Given the description of an element on the screen output the (x, y) to click on. 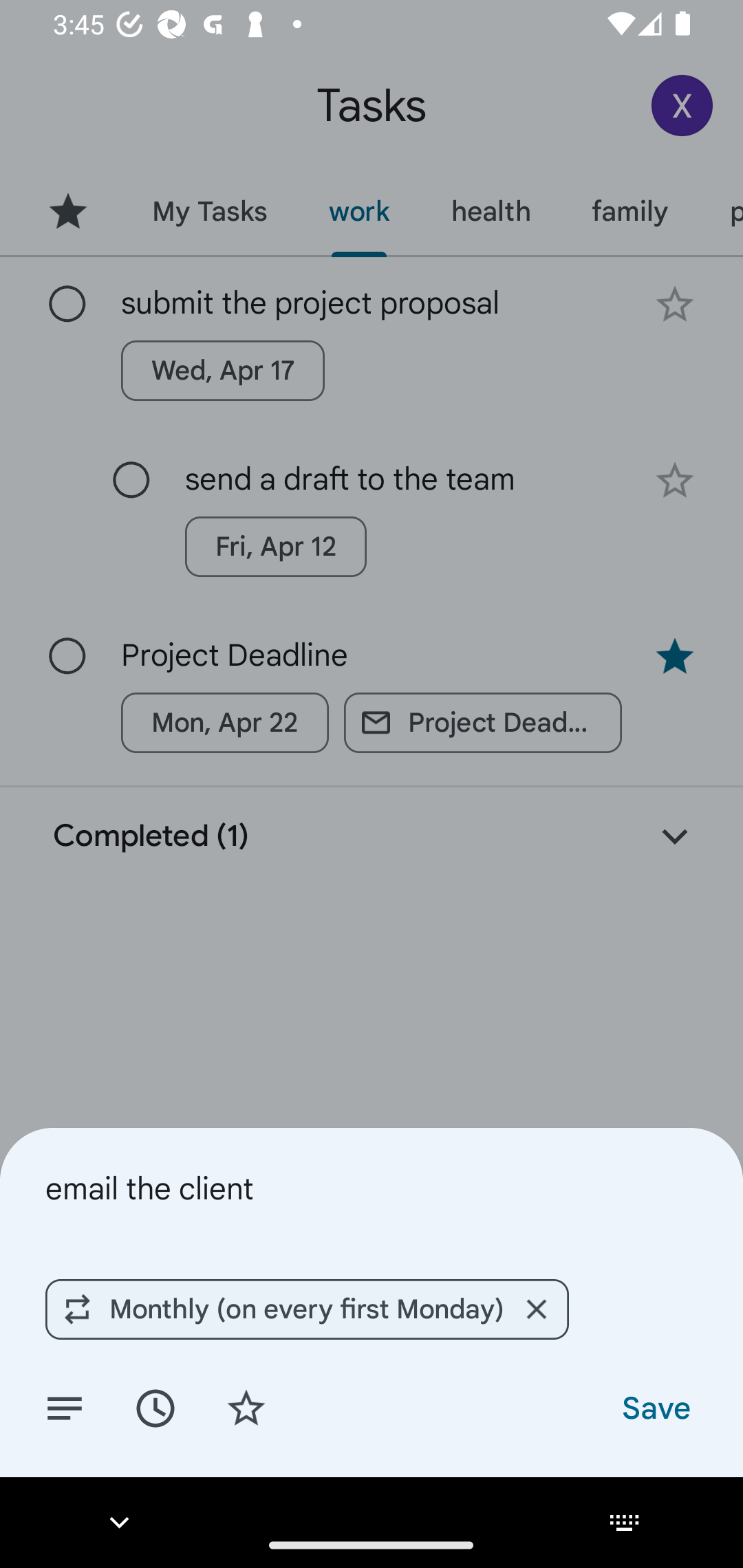
email the client (371, 1188)
Save (655, 1407)
Add details (64, 1407)
Set date/time (154, 1407)
Add star (245, 1407)
